Given the description of an element on the screen output the (x, y) to click on. 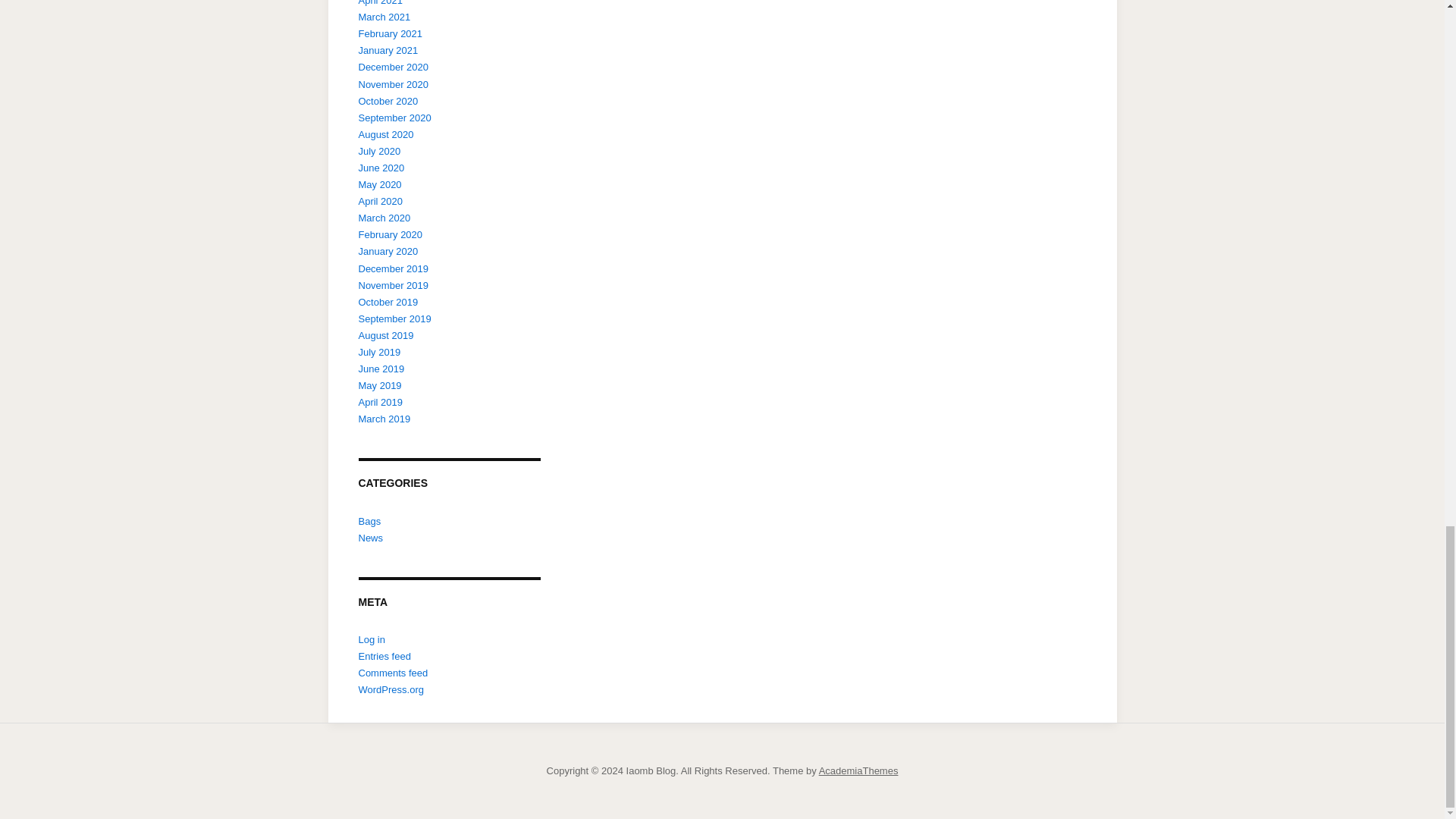
WordPress Themes for Schools and NGOs (858, 770)
